Given the description of an element on the screen output the (x, y) to click on. 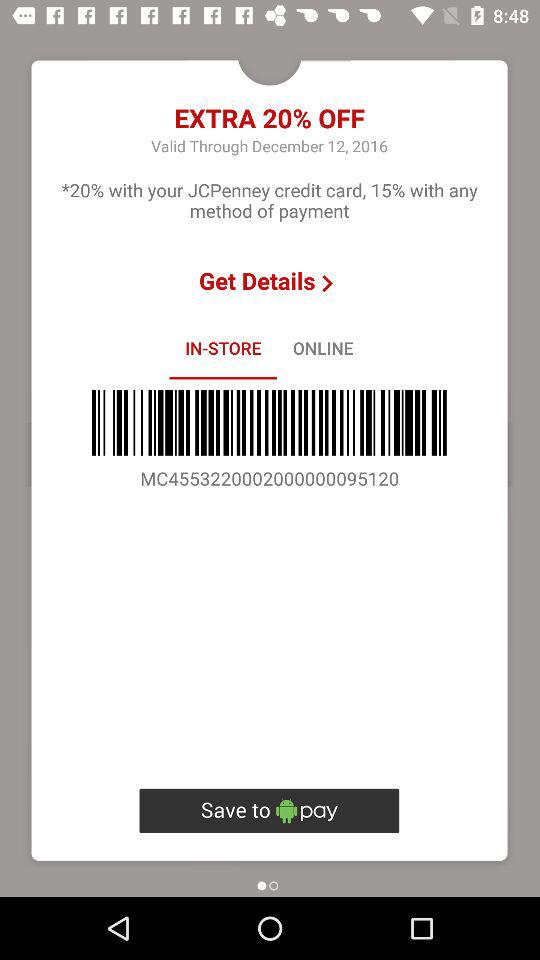
tap item below mc4553220002000000095120 item (269, 810)
